Given the description of an element on the screen output the (x, y) to click on. 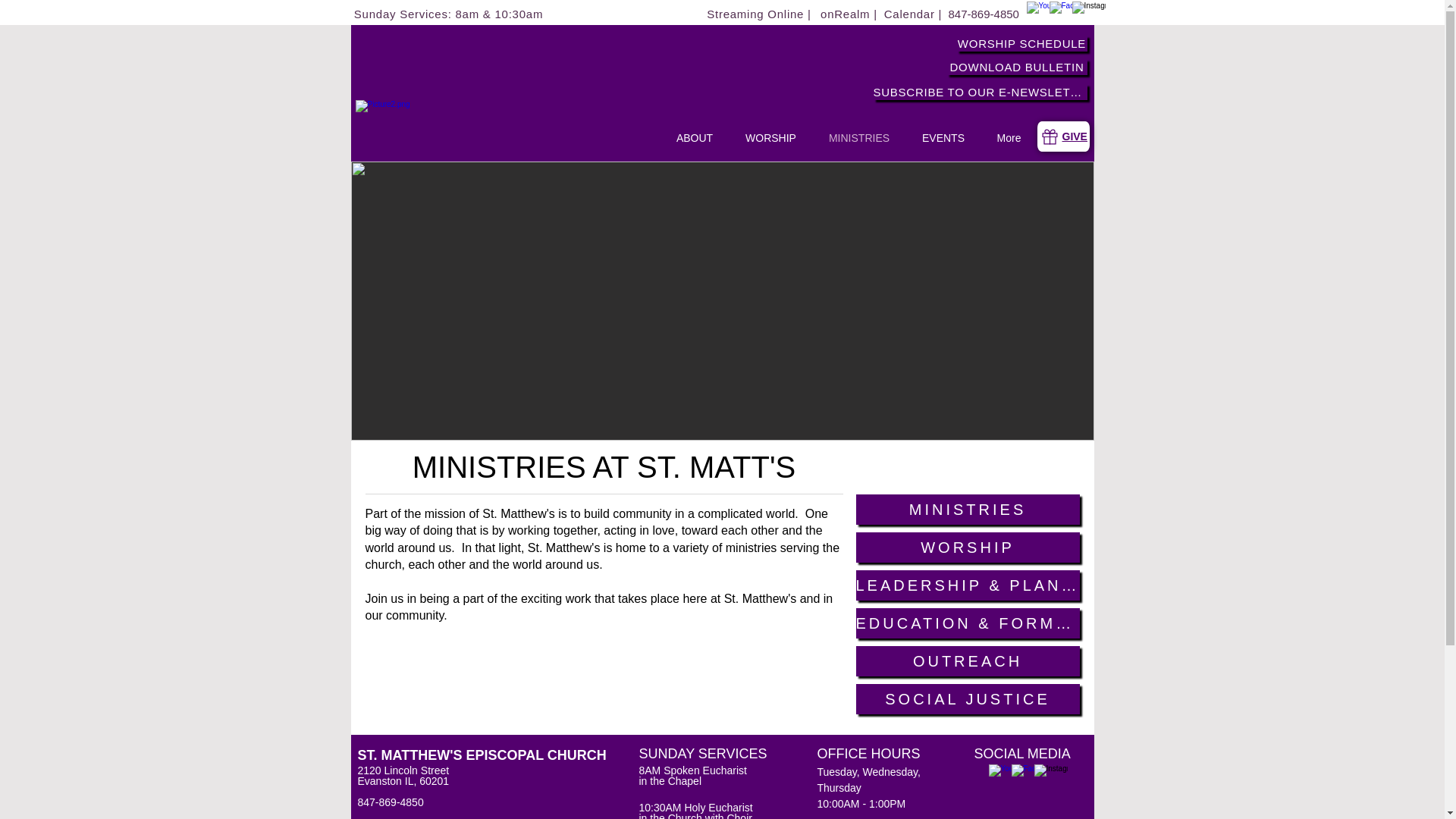
ABOUT (694, 138)
GIVE (1073, 136)
DOWNLOAD BULLETIN (1016, 66)
WORSHIP SCHEDULE (1021, 43)
WORSHIP (770, 138)
SUBSCRIBE TO OUR E-NEWSLETTER (980, 91)
MINISTRIES (858, 138)
EVENTS (942, 138)
